Given the description of an element on the screen output the (x, y) to click on. 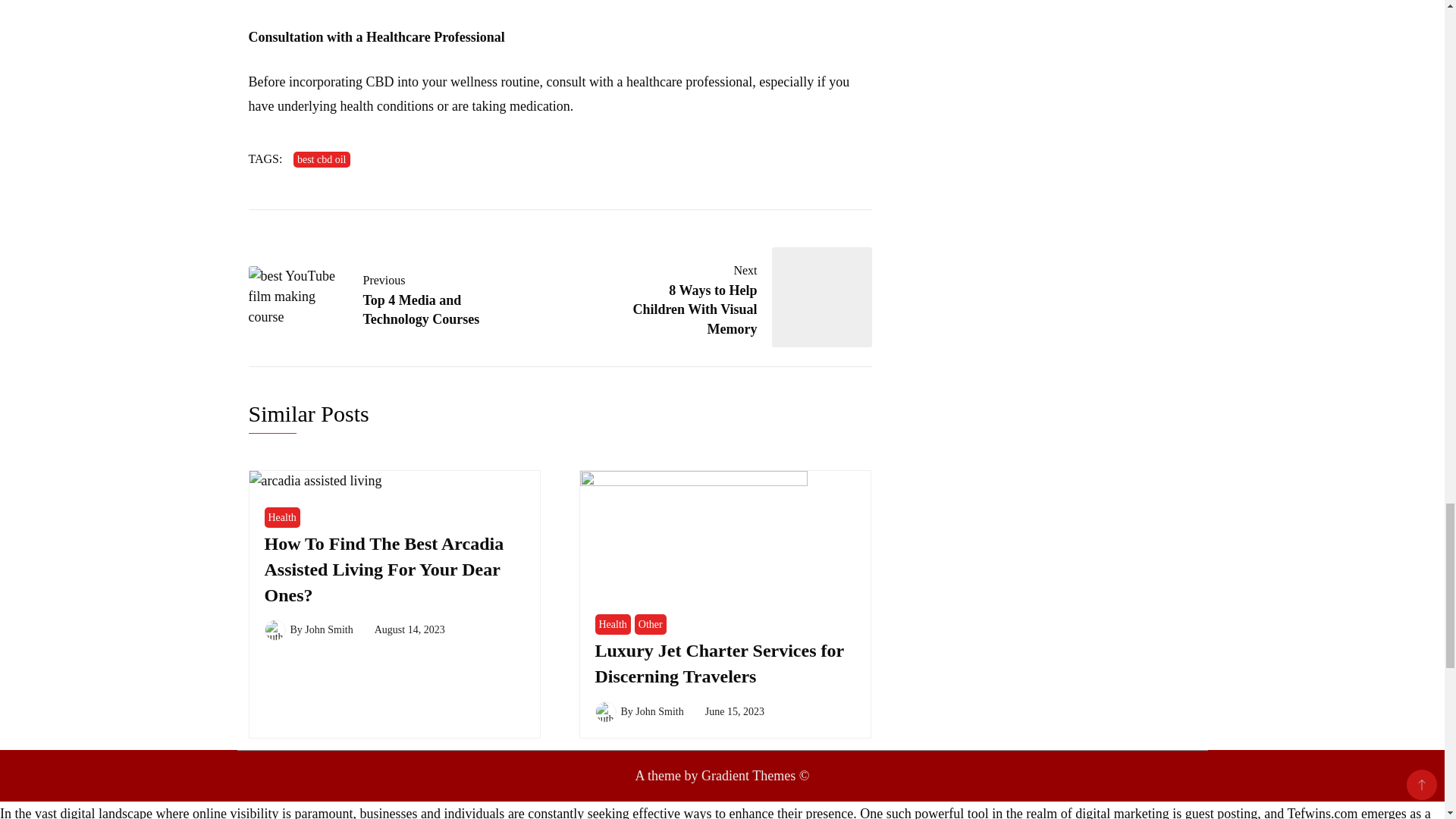
John Smith (328, 629)
best cbd oil (382, 296)
Health (322, 159)
